Given the description of an element on the screen output the (x, y) to click on. 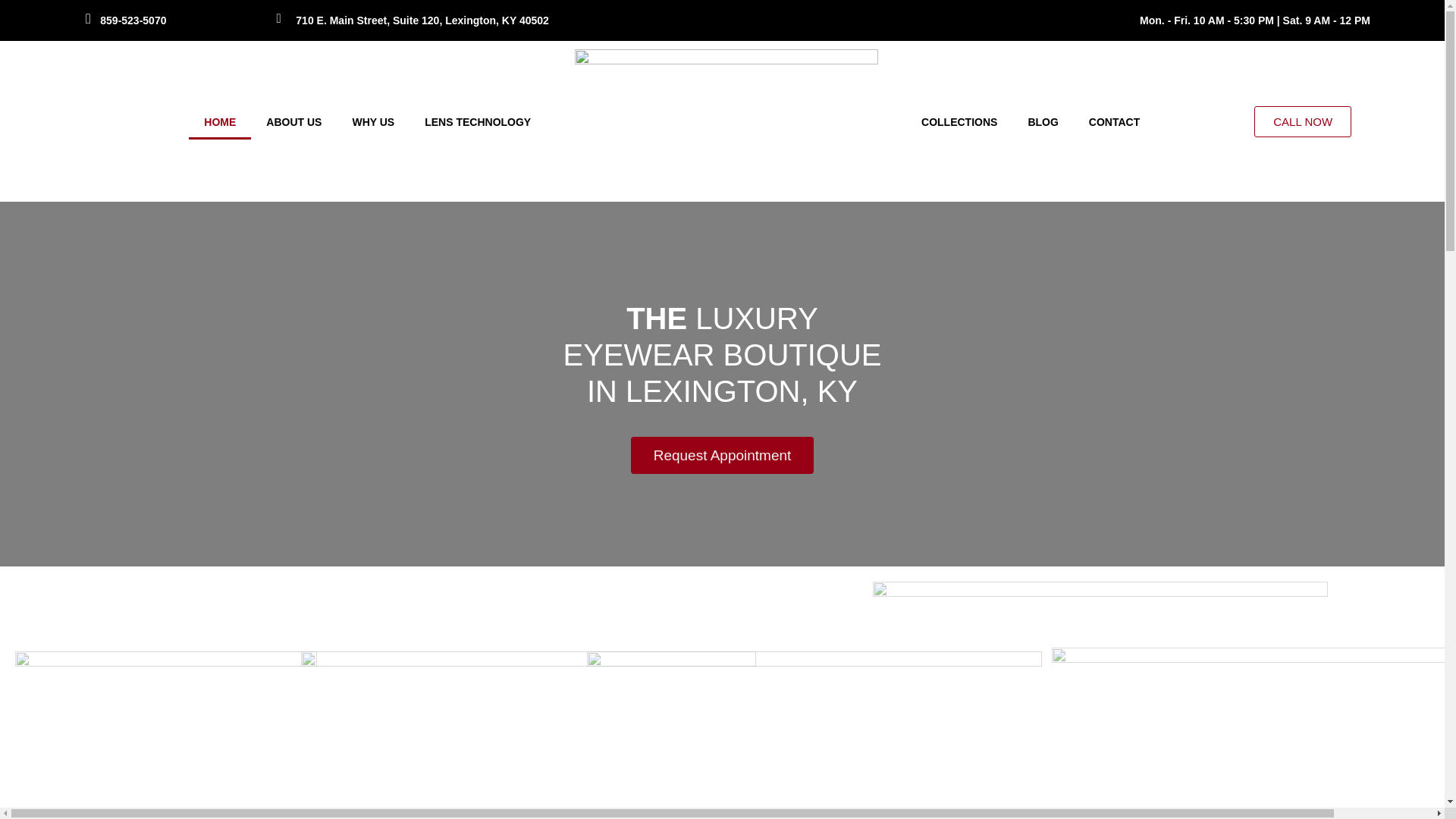
Request Appointment (721, 455)
COLLECTIONS (958, 121)
859-523-5070 (132, 20)
WHY US (372, 121)
HOME (219, 121)
LENS TECHNOLOGY (477, 121)
ABOUT US (293, 121)
BLOG (1042, 121)
710 E. Main Street, Suite 120, Lexington, KY 40502 (421, 20)
CONTACT (1114, 121)
